Given the description of an element on the screen output the (x, y) to click on. 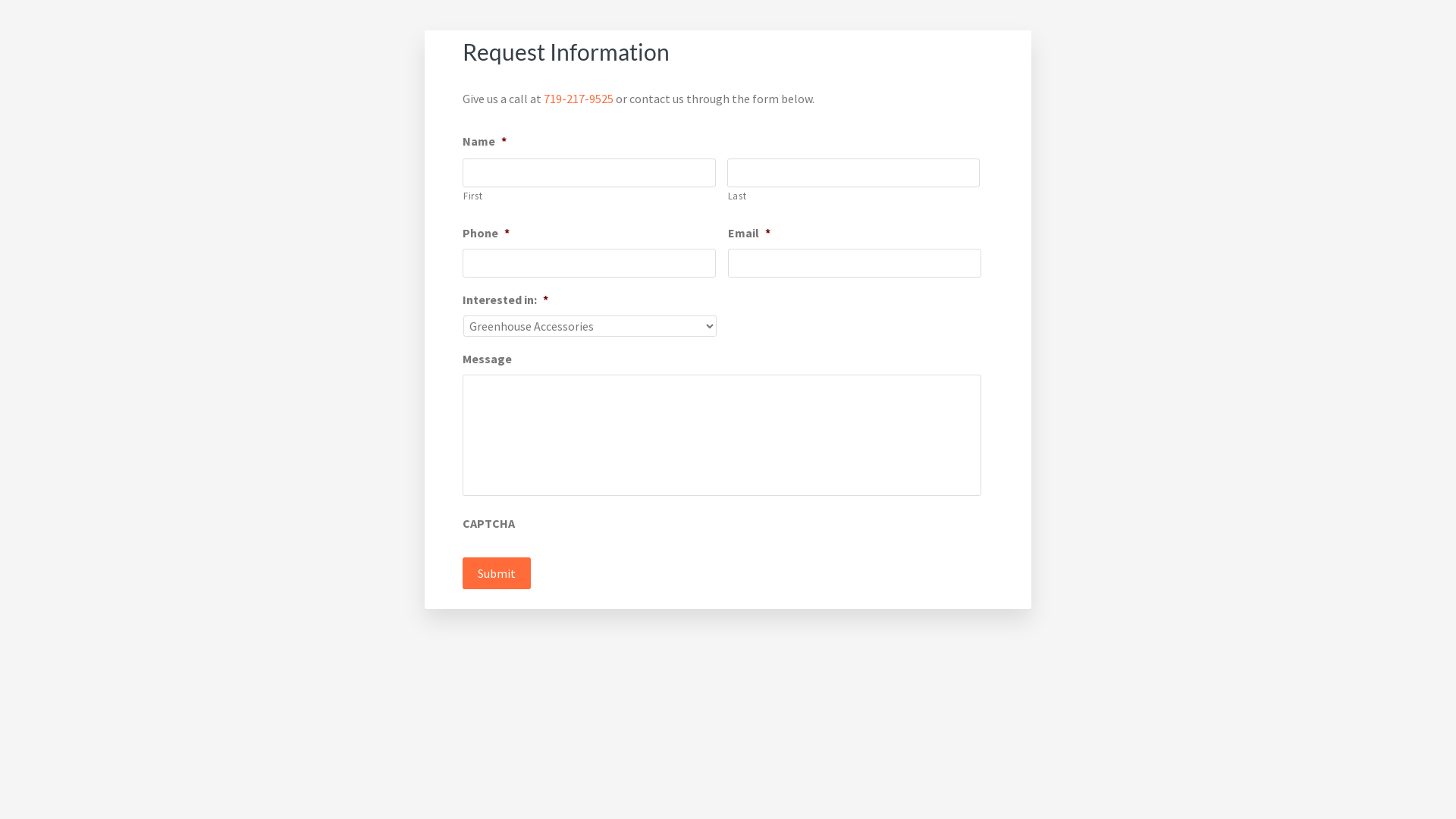
Skip to primary navigation Element type: text (0, 0)
Submit Element type: text (496, 573)
719-217-9525 Element type: text (578, 98)
